Given the description of an element on the screen output the (x, y) to click on. 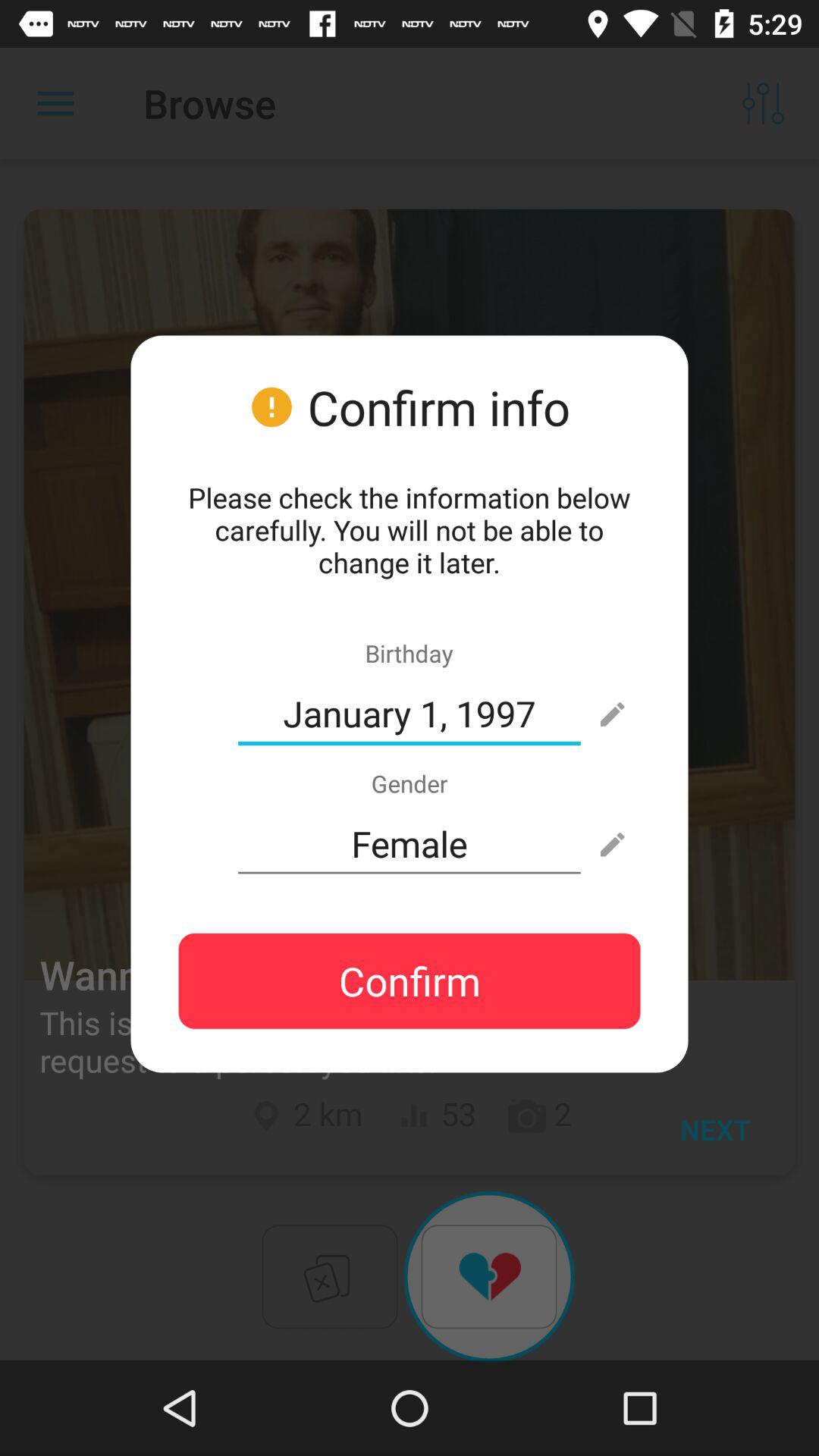
tap the female (409, 844)
